Given the description of an element on the screen output the (x, y) to click on. 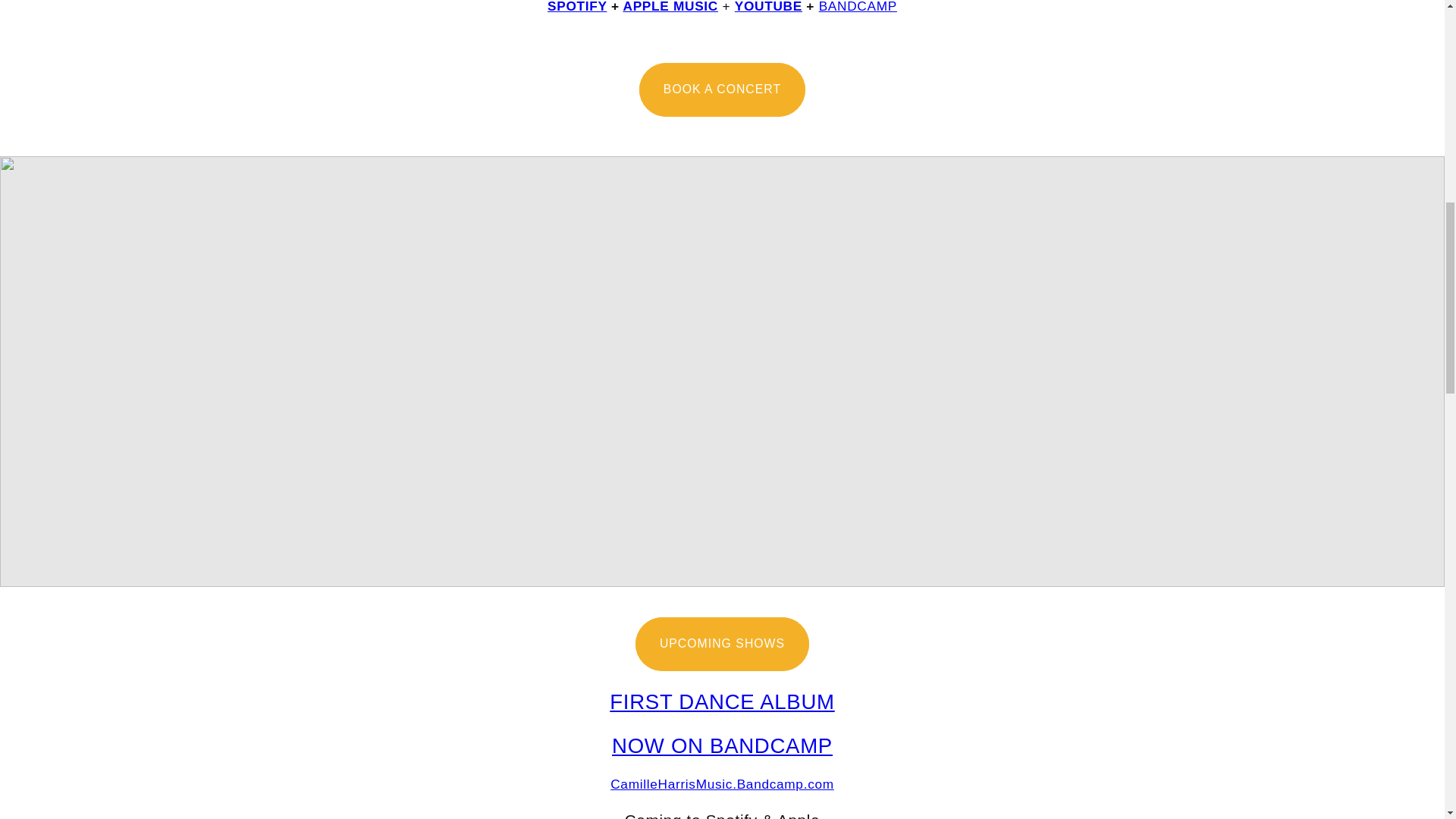
APPLE MUSIC (670, 6)
UPCOMING SHOWS (721, 643)
BANDCAMP (857, 6)
SPOTIFY (577, 6)
YOUTUBE (768, 6)
BOOK A CONCERT (722, 90)
